Given the description of an element on the screen output the (x, y) to click on. 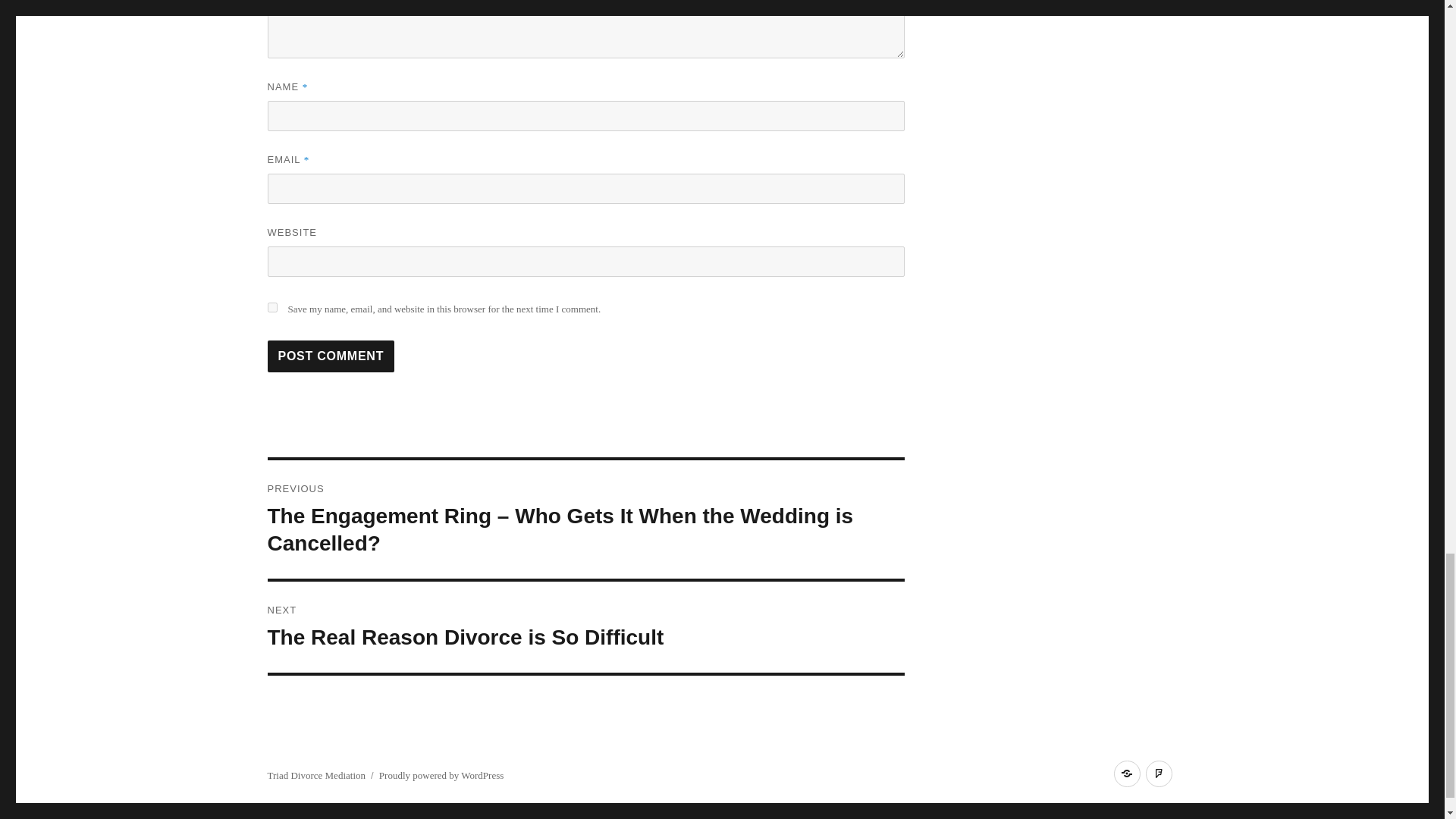
Post Comment (330, 356)
Post Comment (330, 356)
yes (585, 626)
